Given the description of an element on the screen output the (x, y) to click on. 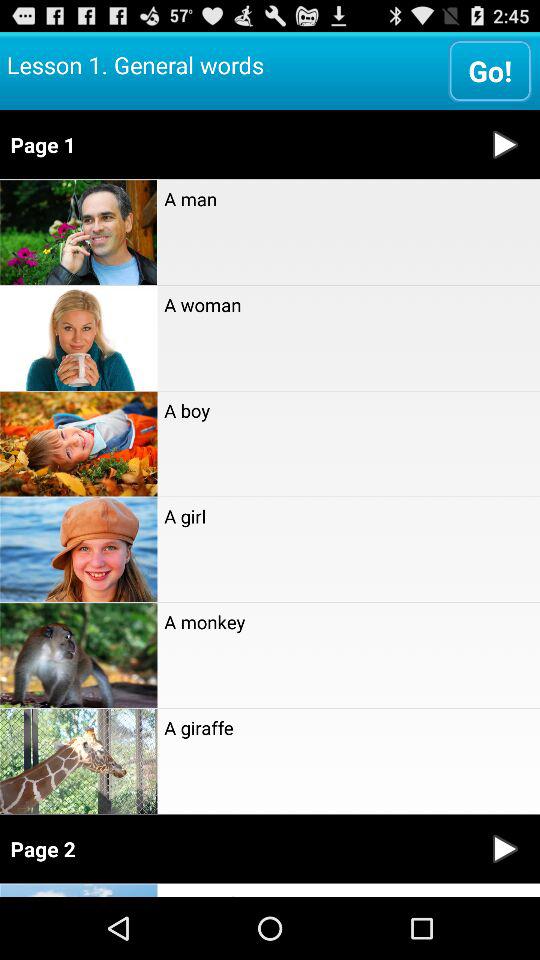
scroll to the a man (348, 199)
